Given the description of an element on the screen output the (x, y) to click on. 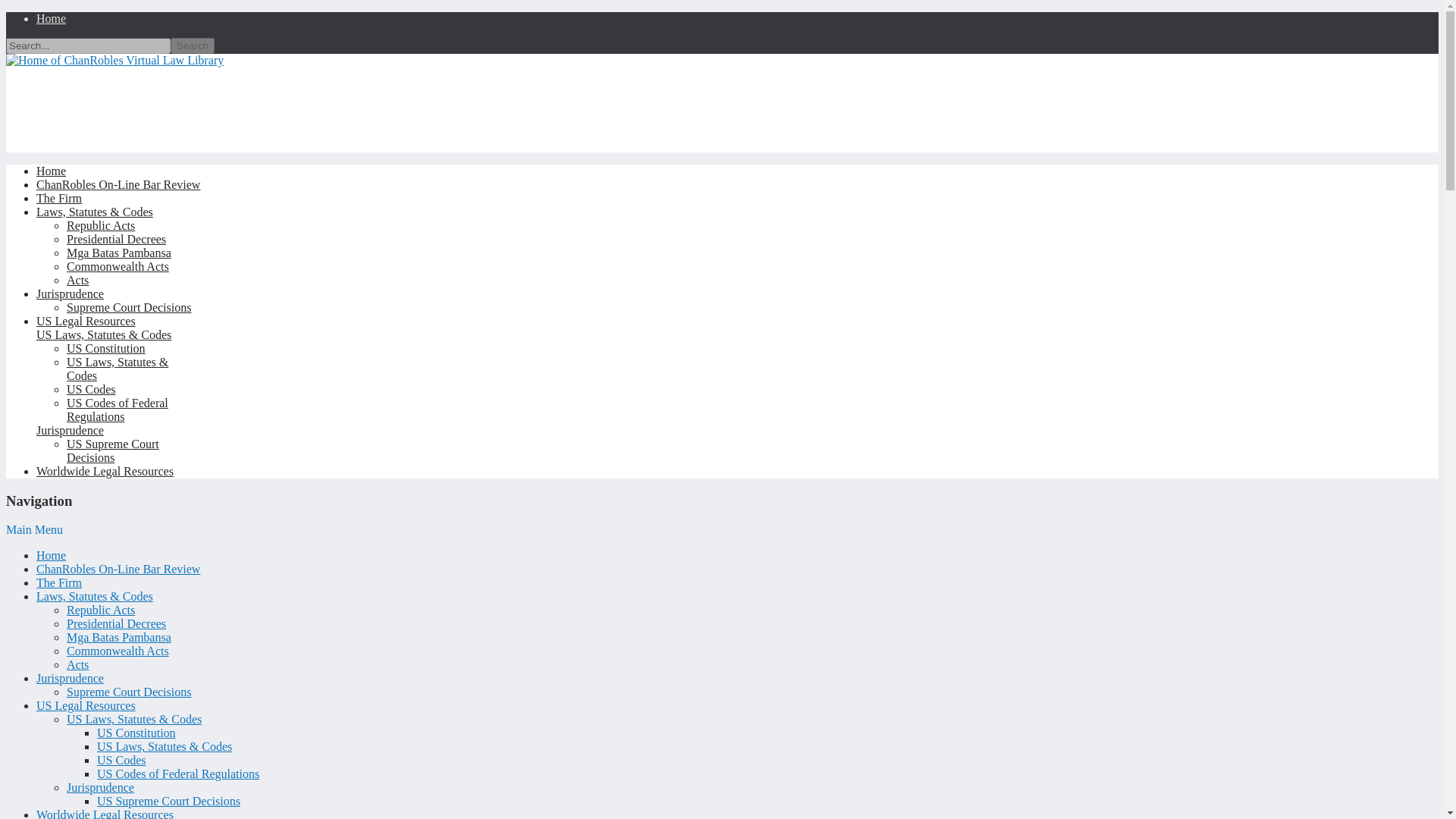
Worldwide Legal Resources (104, 471)
US Codes (90, 389)
US Constitution (136, 732)
Jurisprudence (69, 677)
Home (50, 170)
Acts (77, 664)
Acts (77, 279)
US Supreme Court Decisions (112, 450)
Home of ChanRobles Virtual Law Library (114, 60)
Mga Batas Pambansa (118, 252)
